Given the description of an element on the screen output the (x, y) to click on. 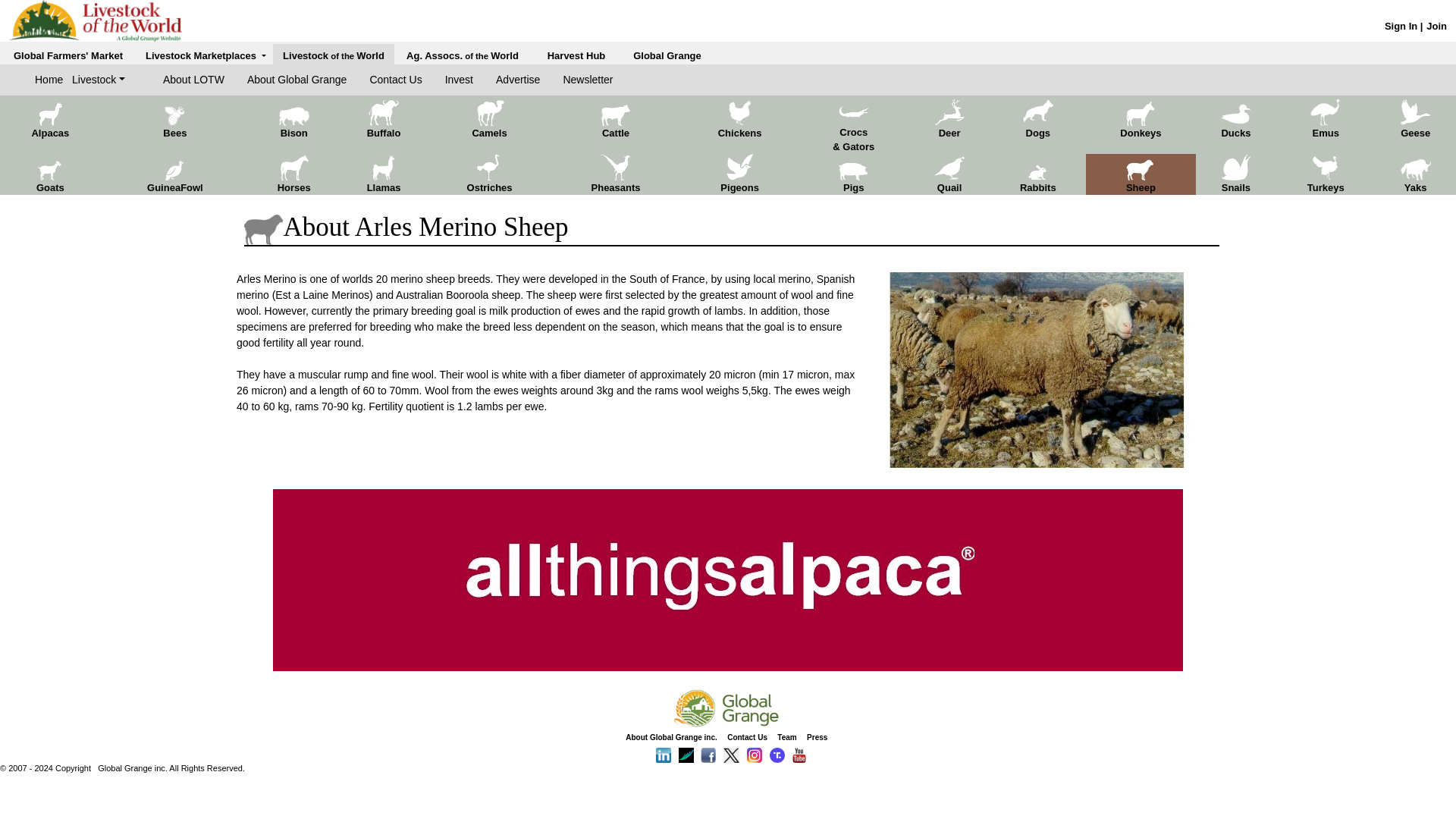
Harvest Hub (576, 55)
Livestock of the World (333, 55)
Global Farmers' Market (67, 55)
Global Grange (667, 55)
Livestock (98, 79)
Ag. Assocs. of the World (462, 55)
Home    (52, 79)
Join (1436, 25)
Livestock Marketplaces (205, 55)
